Given the description of an element on the screen output the (x, y) to click on. 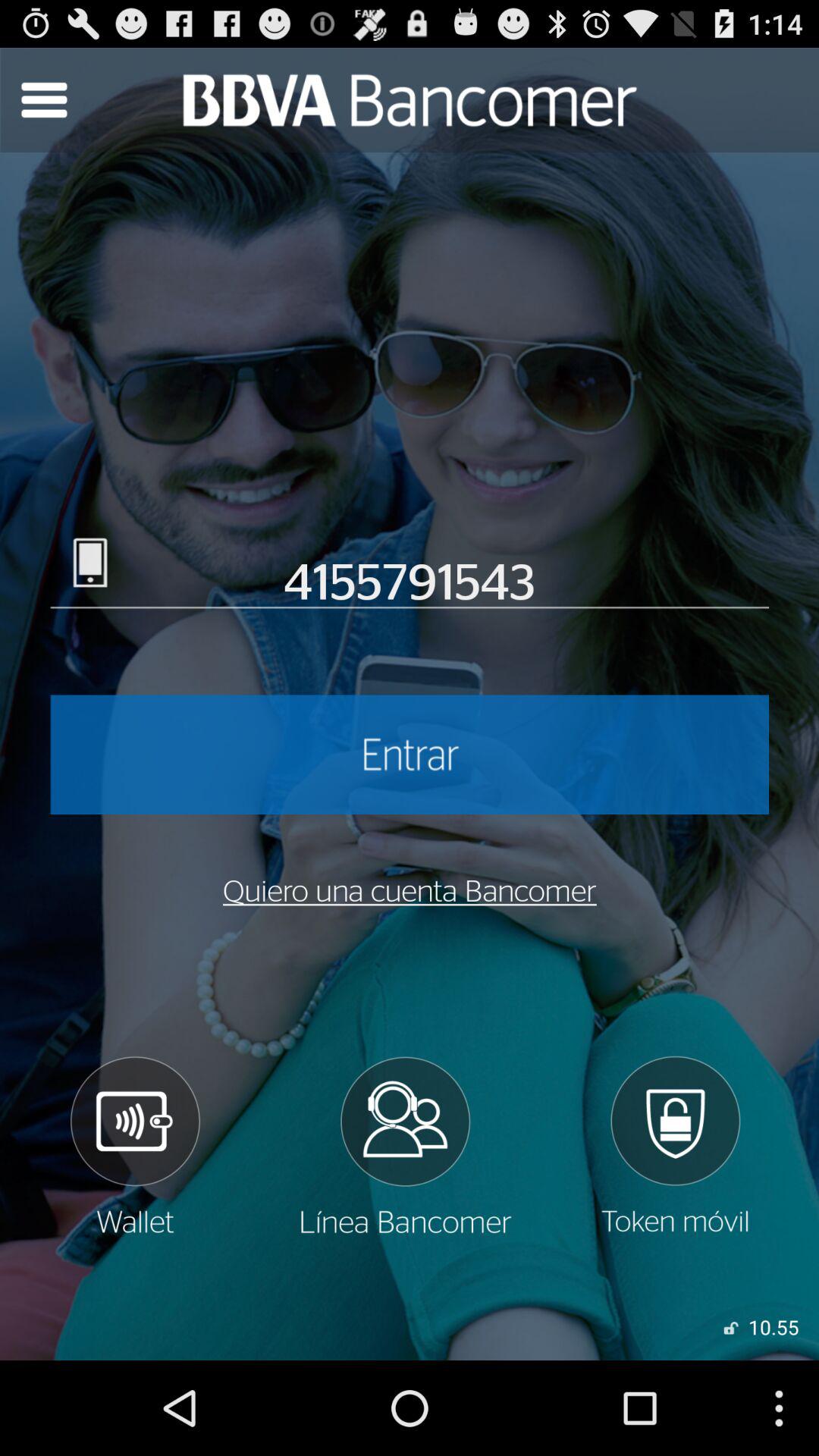
enter account (409, 754)
